Given the description of an element on the screen output the (x, y) to click on. 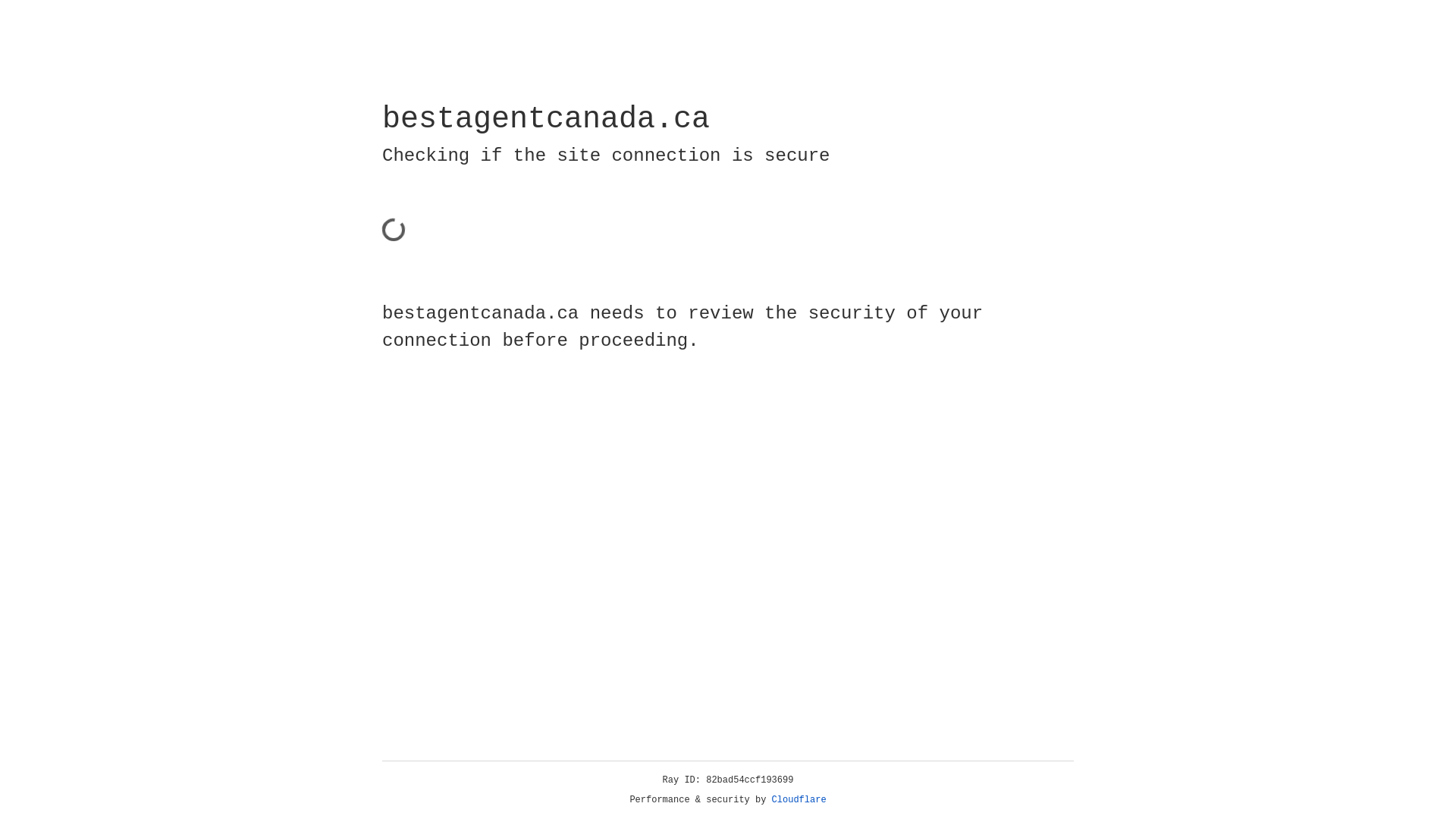
Cloudflare Element type: text (798, 799)
